Given the description of an element on the screen output the (x, y) to click on. 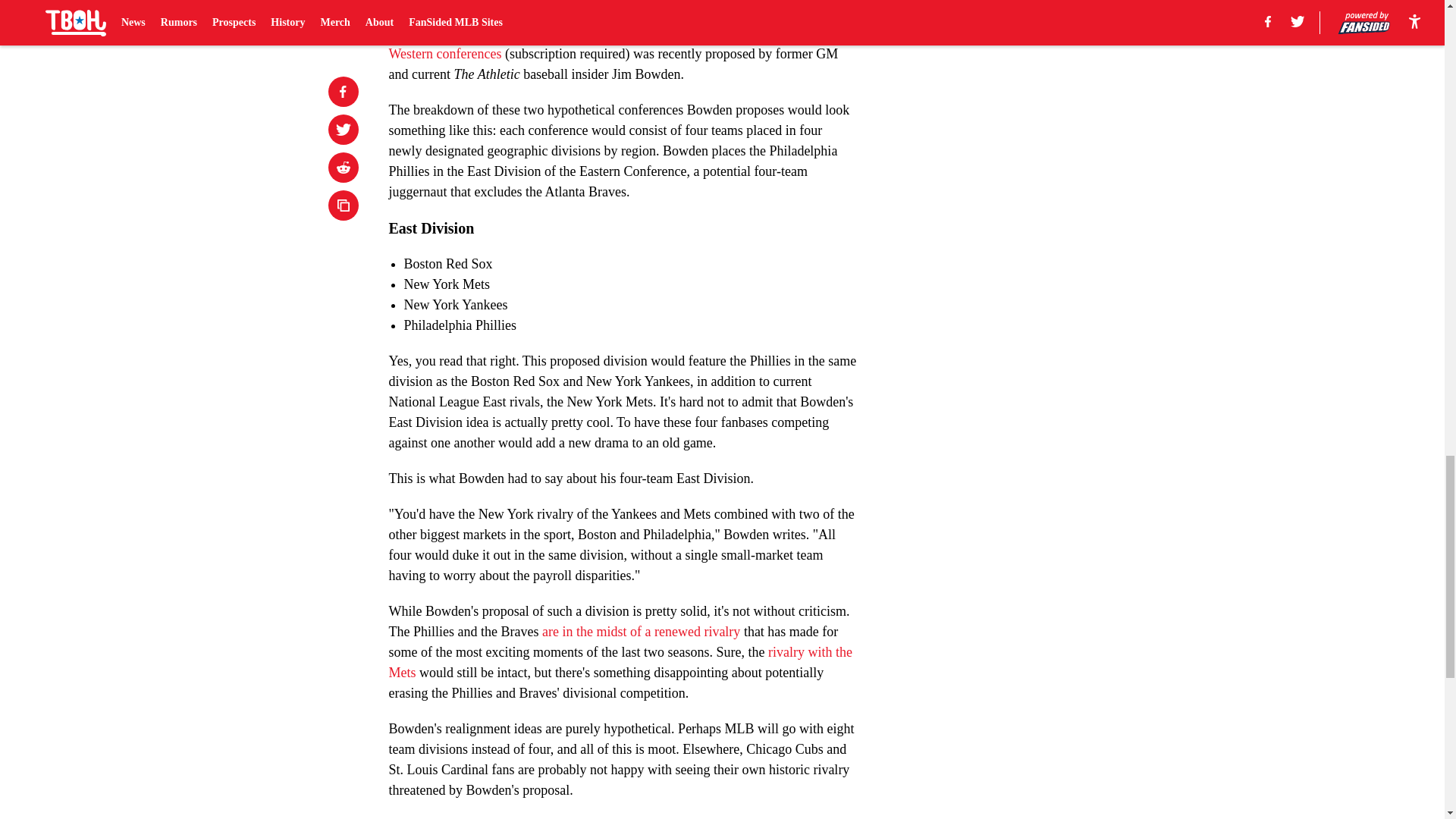
rivalry with the Mets (619, 662)
are in the midst of a renewed rivalry (640, 631)
creation of Eastern and Western conferences (610, 43)
